Given the description of an element on the screen output the (x, y) to click on. 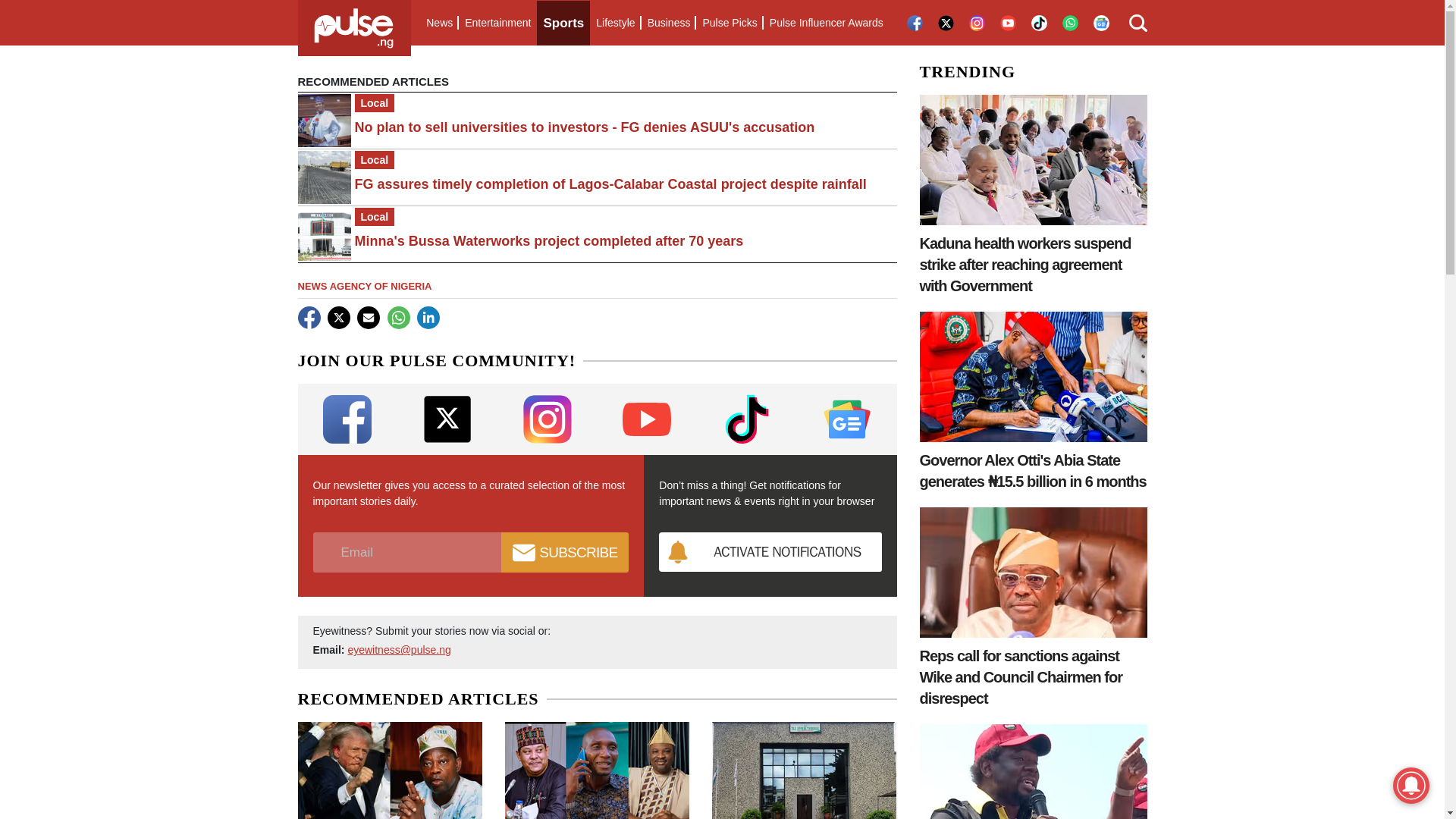
Lifestyle (614, 22)
Sports (563, 22)
Entertainment (497, 22)
Business (669, 22)
